Given the description of an element on the screen output the (x, y) to click on. 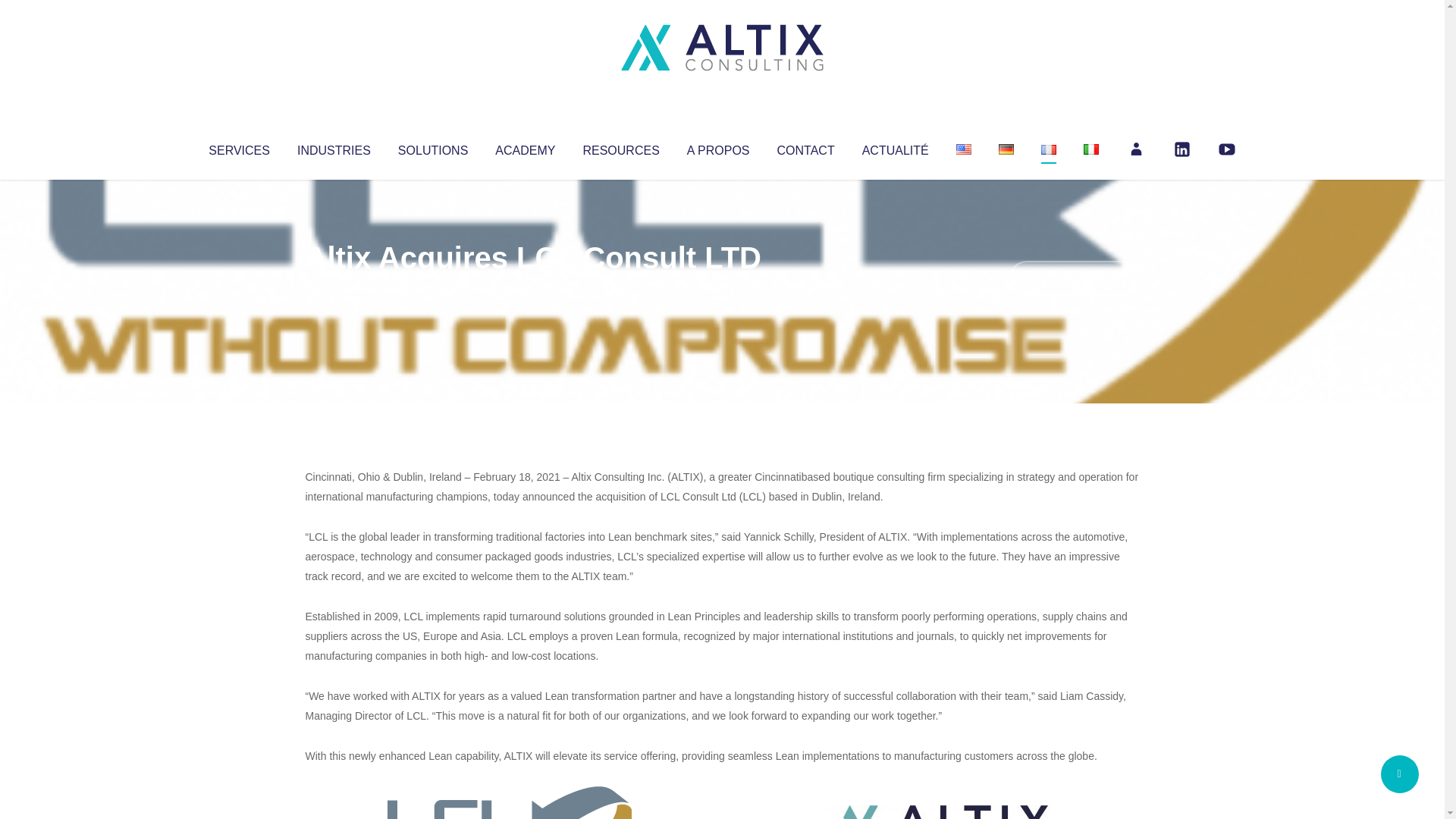
RESOURCES (620, 146)
SOLUTIONS (432, 146)
Uncategorized (530, 287)
No Comments (1073, 278)
INDUSTRIES (334, 146)
Articles par Altix (333, 287)
SERVICES (238, 146)
A PROPOS (718, 146)
Altix (333, 287)
ACADEMY (524, 146)
